Given the description of an element on the screen output the (x, y) to click on. 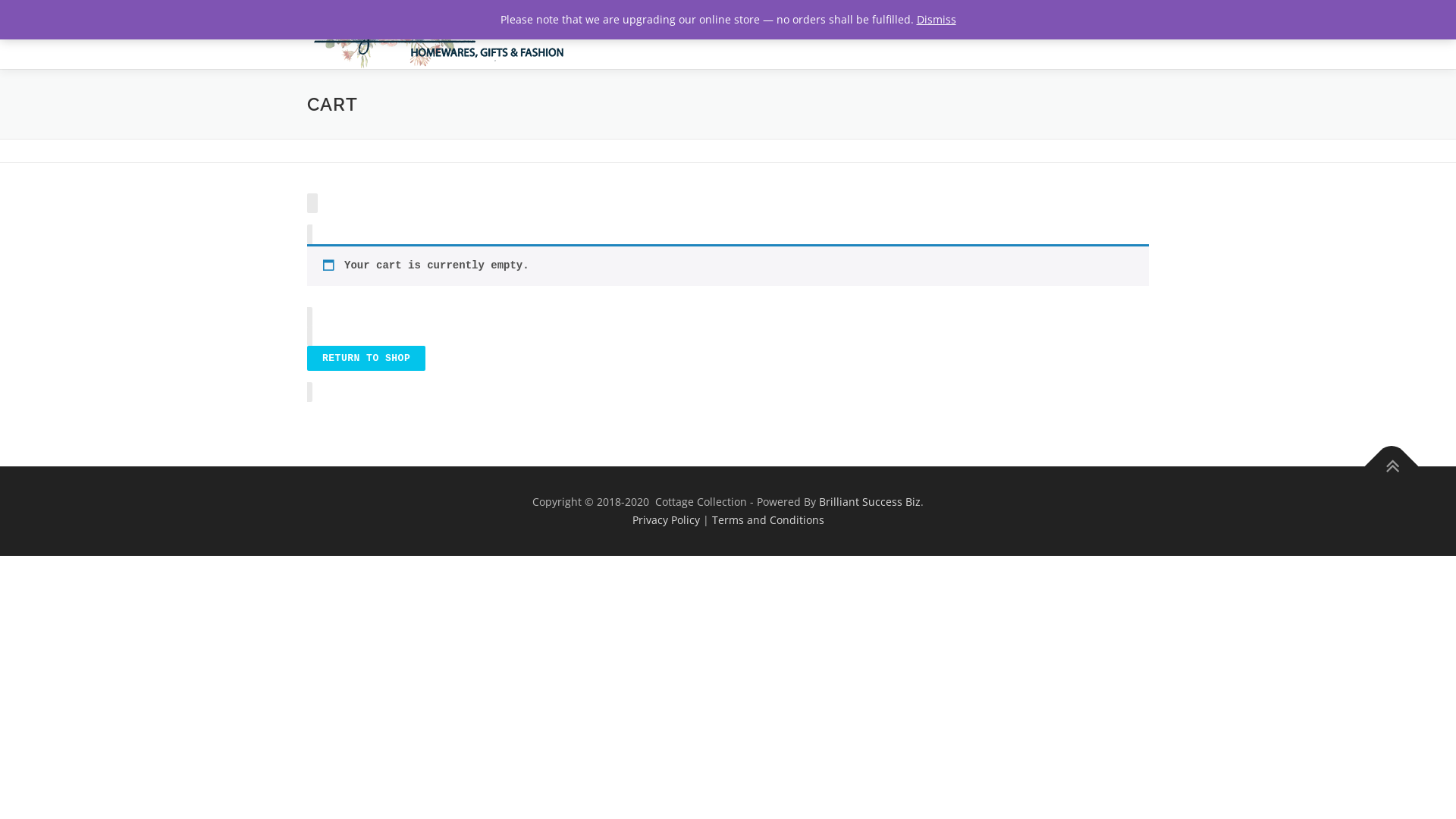
Terms and Conditions Element type: text (767, 519)
RETURN TO SHOP Element type: text (366, 357)
SHOP Element type: text (900, 28)
MY ACCOUNT Element type: text (1033, 28)
Back To Top Element type: hover (1383, 458)
Brilliant Success Biz Element type: text (869, 501)
CONTACT Element type: text (1115, 28)
Dismiss Element type: text (935, 19)
Privacy Policy Element type: text (665, 519)
CART Element type: text (955, 28)
